Given the description of an element on the screen output the (x, y) to click on. 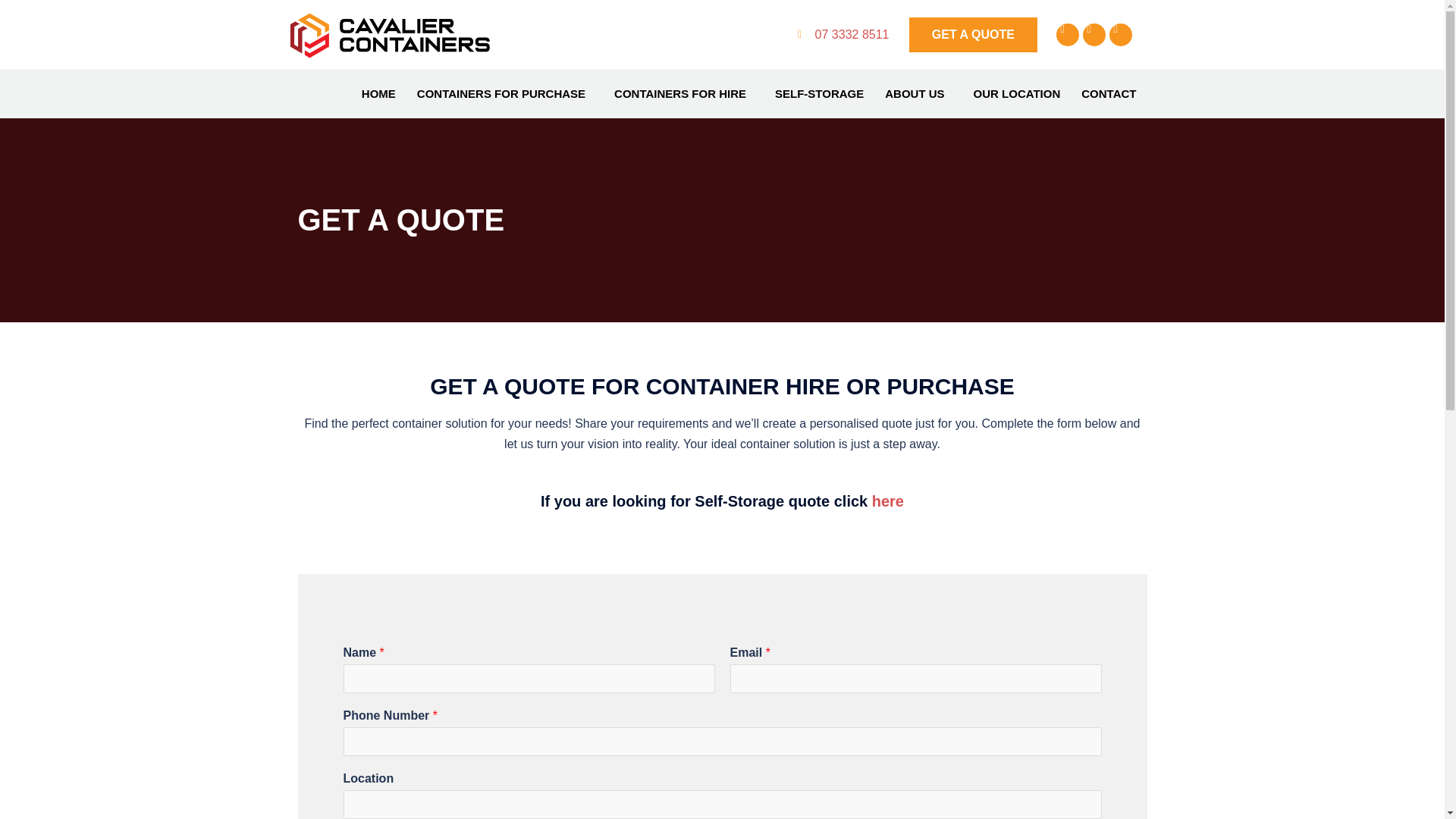
GET A QUOTE (972, 34)
OUR LOCATION (1016, 93)
07 3332 8511 (846, 34)
CONTAINERS FOR PURCHASE (505, 93)
ABOUT US (918, 93)
CONTAINERS FOR HIRE (684, 93)
HOME (378, 93)
CONTACT (1108, 93)
SELF-STORAGE (819, 93)
